Given the description of an element on the screen output the (x, y) to click on. 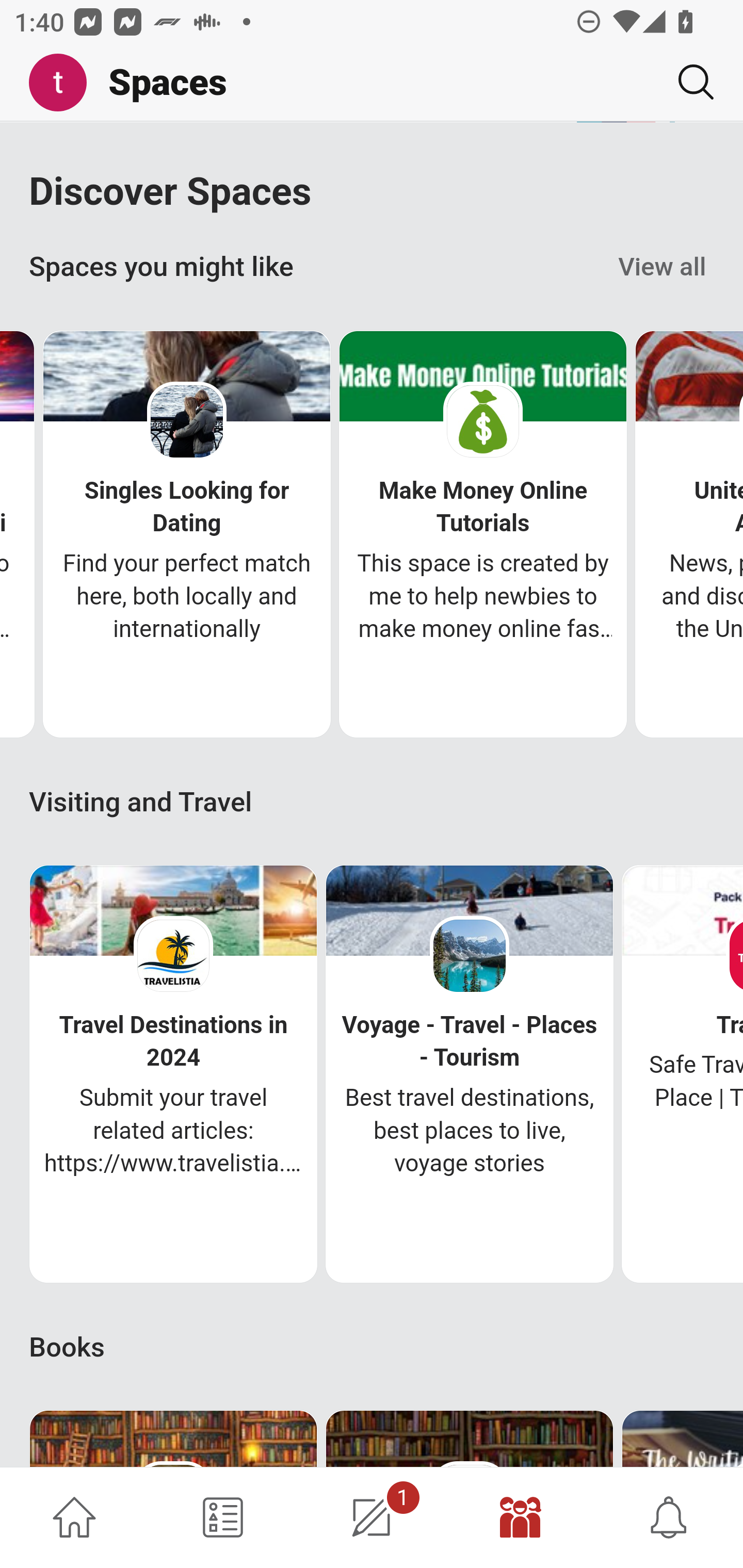
Me (64, 83)
Search (688, 82)
View all (662, 268)
Singles Looking for Dating (186, 508)
Make Money Online Tutorials (482, 508)
Travel Destinations in 2024 (173, 1041)
Voyage - Travel - Places - Tourism (469, 1041)
1 (371, 1517)
